Given the description of an element on the screen output the (x, y) to click on. 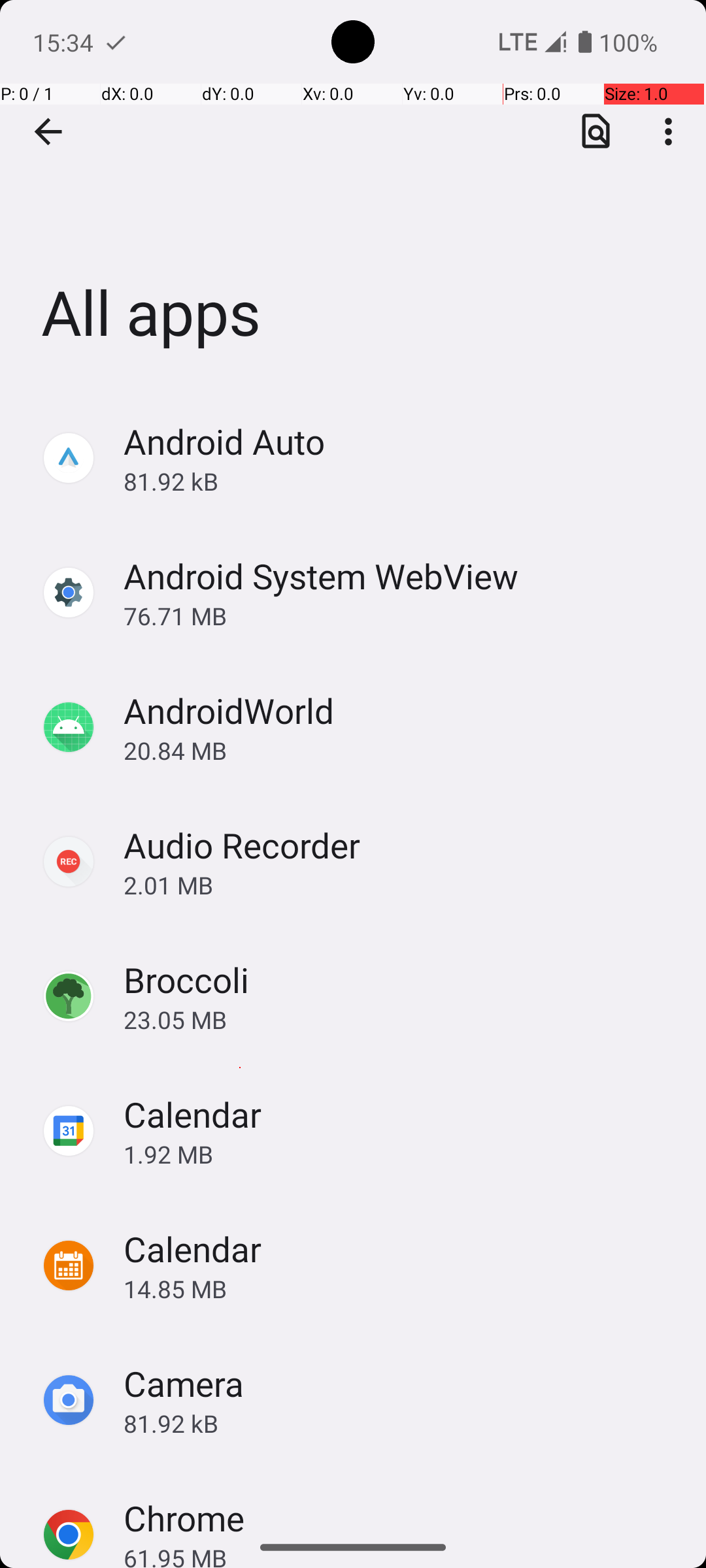
All apps Element type: android.widget.FrameLayout (353, 195)
81.92 kB Element type: android.widget.TextView (400, 480)
76.71 MB Element type: android.widget.TextView (400, 615)
20.84 MB Element type: android.widget.TextView (400, 750)
2.01 MB Element type: android.widget.TextView (400, 884)
23.05 MB Element type: android.widget.TextView (400, 1019)
1.92 MB Element type: android.widget.TextView (400, 1153)
14.85 MB Element type: android.widget.TextView (400, 1288)
